Given the description of an element on the screen output the (x, y) to click on. 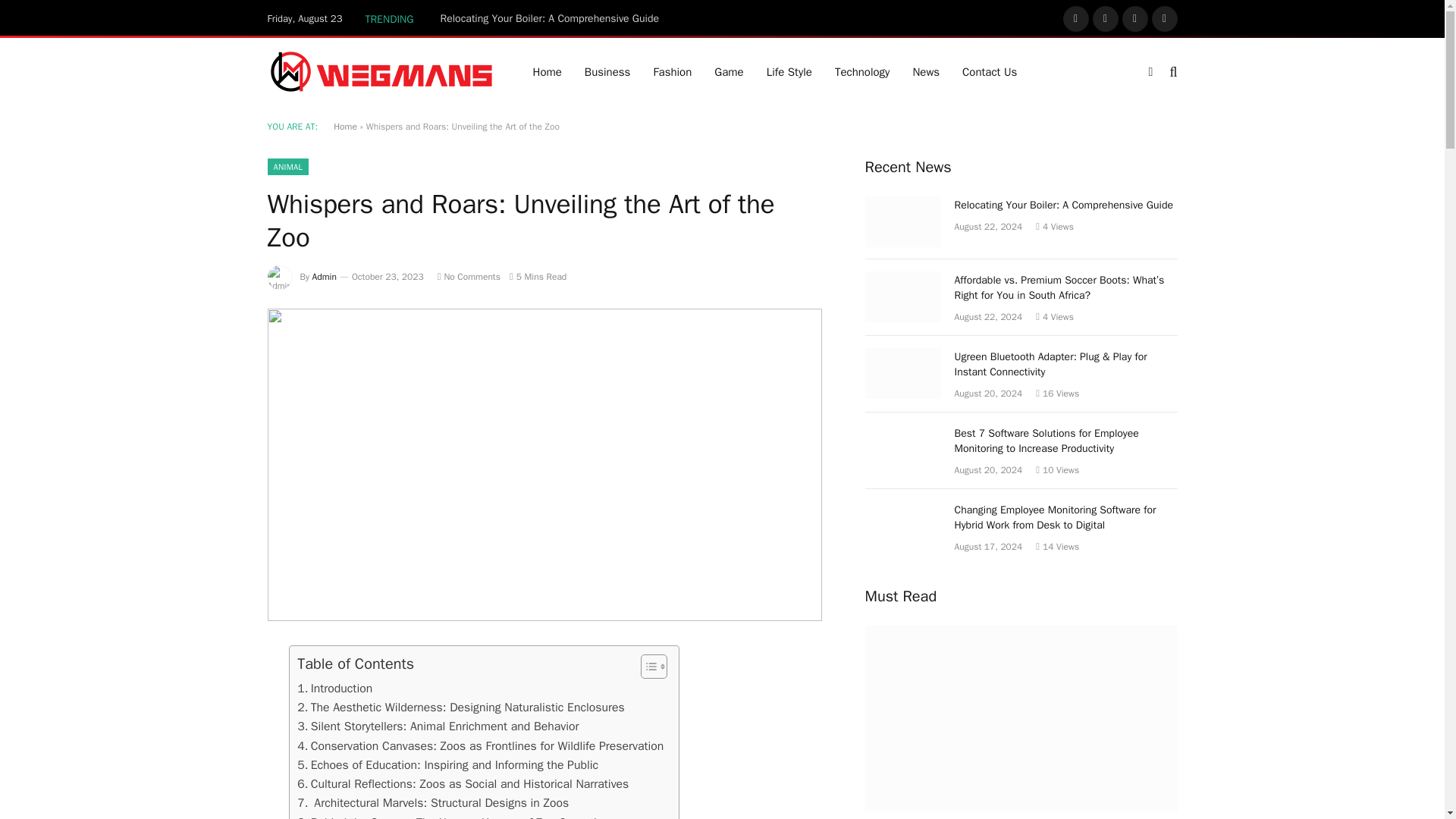
Admin (324, 276)
Switch to Dark Design - easier on eyes. (1149, 70)
ANIMAL (287, 166)
Facebook (1075, 18)
Posts by Admin (324, 276)
Life Style (789, 71)
Business (607, 71)
Home (344, 126)
Technology (862, 71)
